Given the description of an element on the screen output the (x, y) to click on. 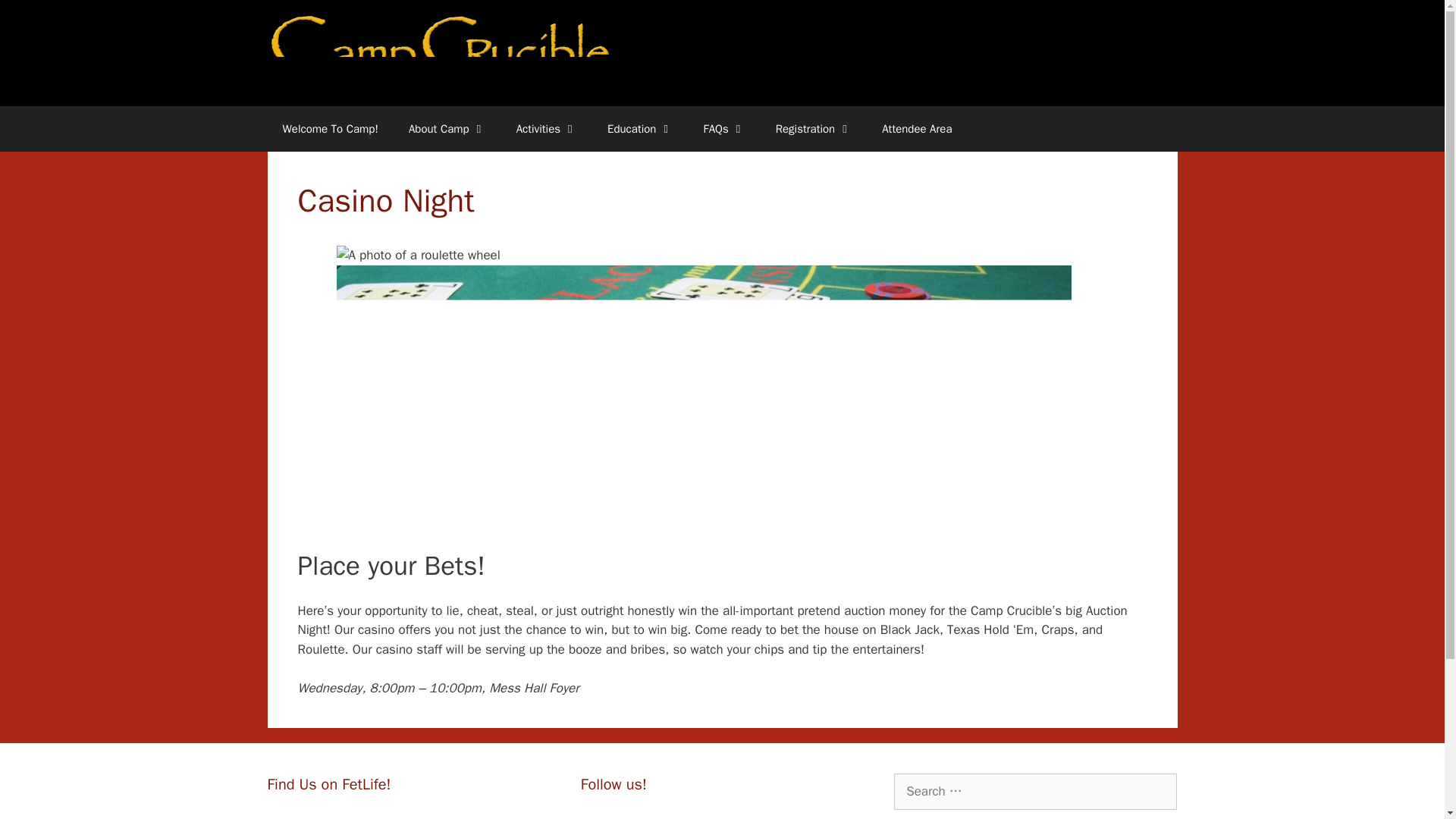
Welcome To Camp! (329, 128)
About Camp (446, 128)
Search for: (1034, 791)
Attendee Area (916, 128)
Registration (813, 128)
Education (639, 128)
Activities (546, 128)
FAQs (723, 128)
